Given the description of an element on the screen output the (x, y) to click on. 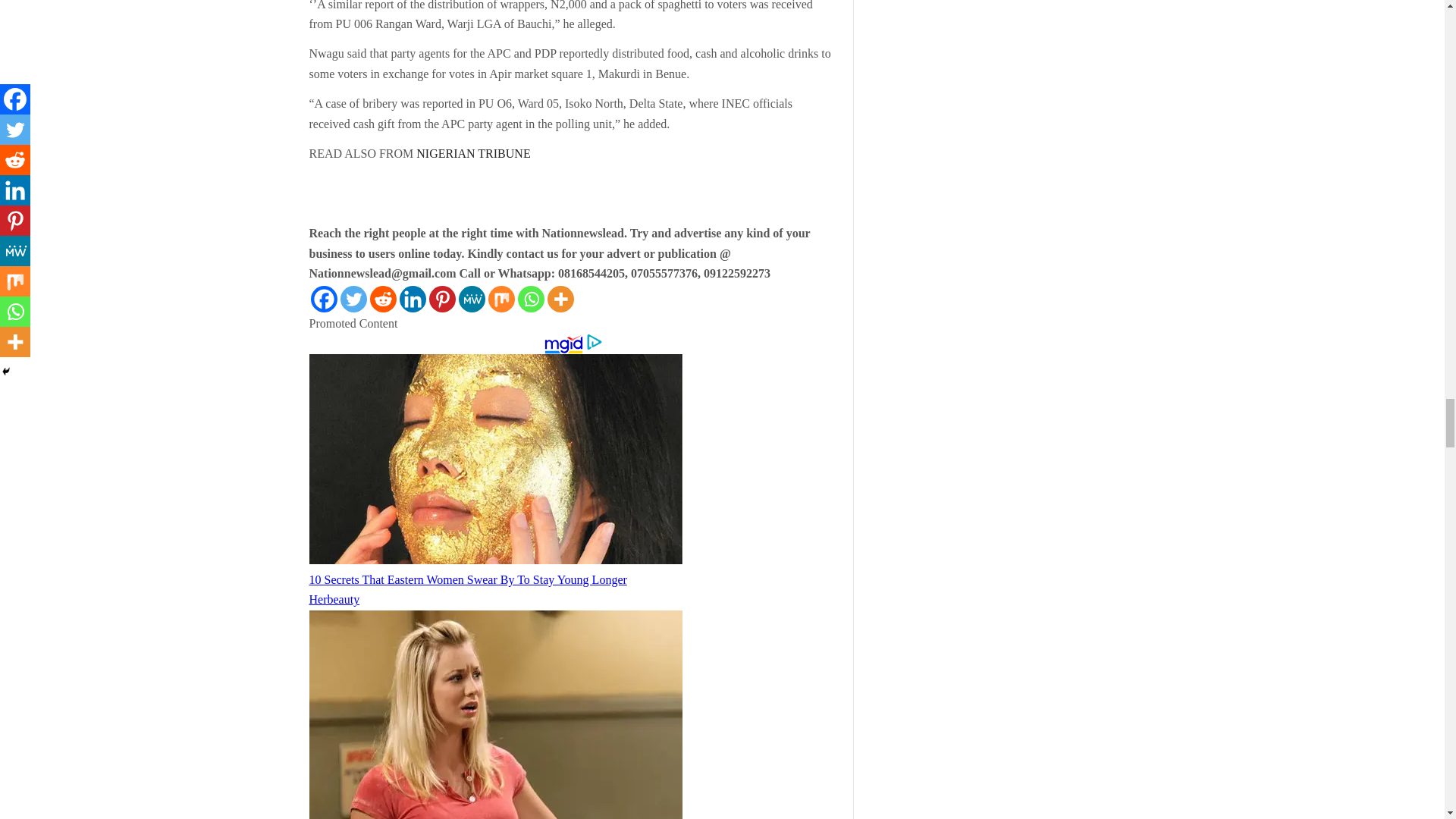
Facebook (324, 298)
Twitter (352, 298)
NIGERIAN TRIBUNE (471, 153)
